Given the description of an element on the screen output the (x, y) to click on. 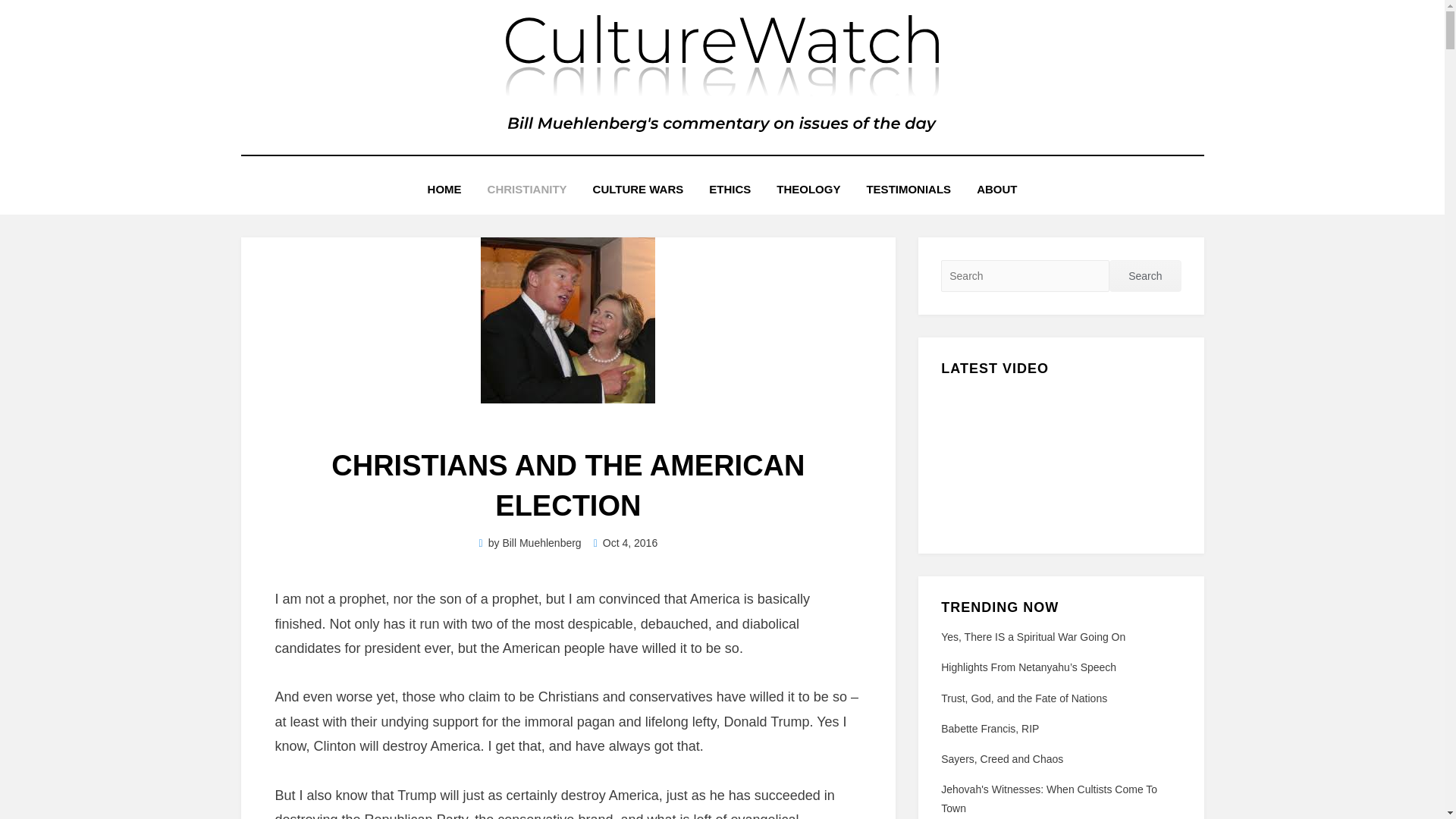
ETHICS (728, 189)
CHRISTIANITY (526, 189)
Bill Muehlenberg (541, 542)
THEOLOGY (807, 189)
TESTIMONIALS (908, 189)
Oct 4, 2016 (626, 542)
ABOUT (996, 189)
CULTURE WARS (638, 189)
HOME (444, 189)
